Given the description of an element on the screen output the (x, y) to click on. 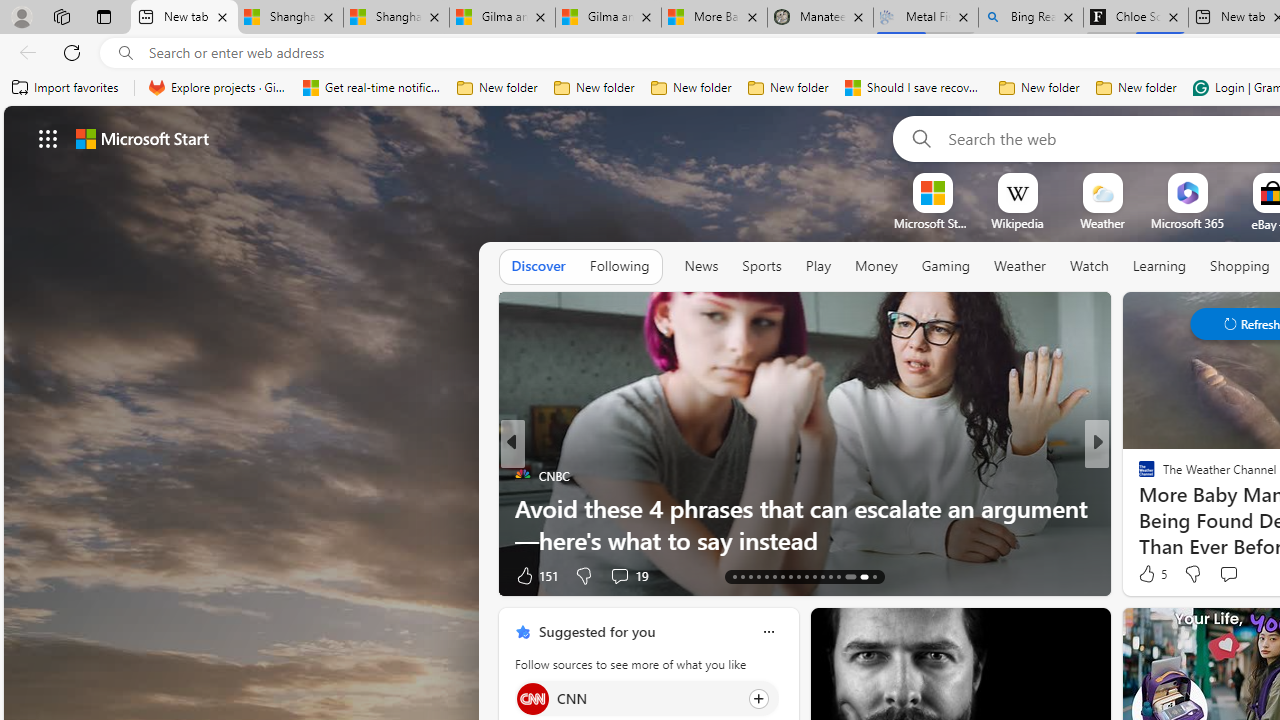
View comments 1 Comment (1229, 575)
News (701, 267)
Weather (1020, 265)
Dislike (1191, 574)
Weather (1019, 267)
AutomationID: tab-40 (846, 576)
Watch (1089, 265)
AutomationID: tab-39 (838, 576)
Microsoft 365 (1186, 223)
AutomationID: tab-16 (757, 576)
Class: icon-img (768, 632)
AutomationID: tab-19 (782, 576)
Sports (761, 265)
AutomationID: tab-23 (814, 576)
